Given the description of an element on the screen output the (x, y) to click on. 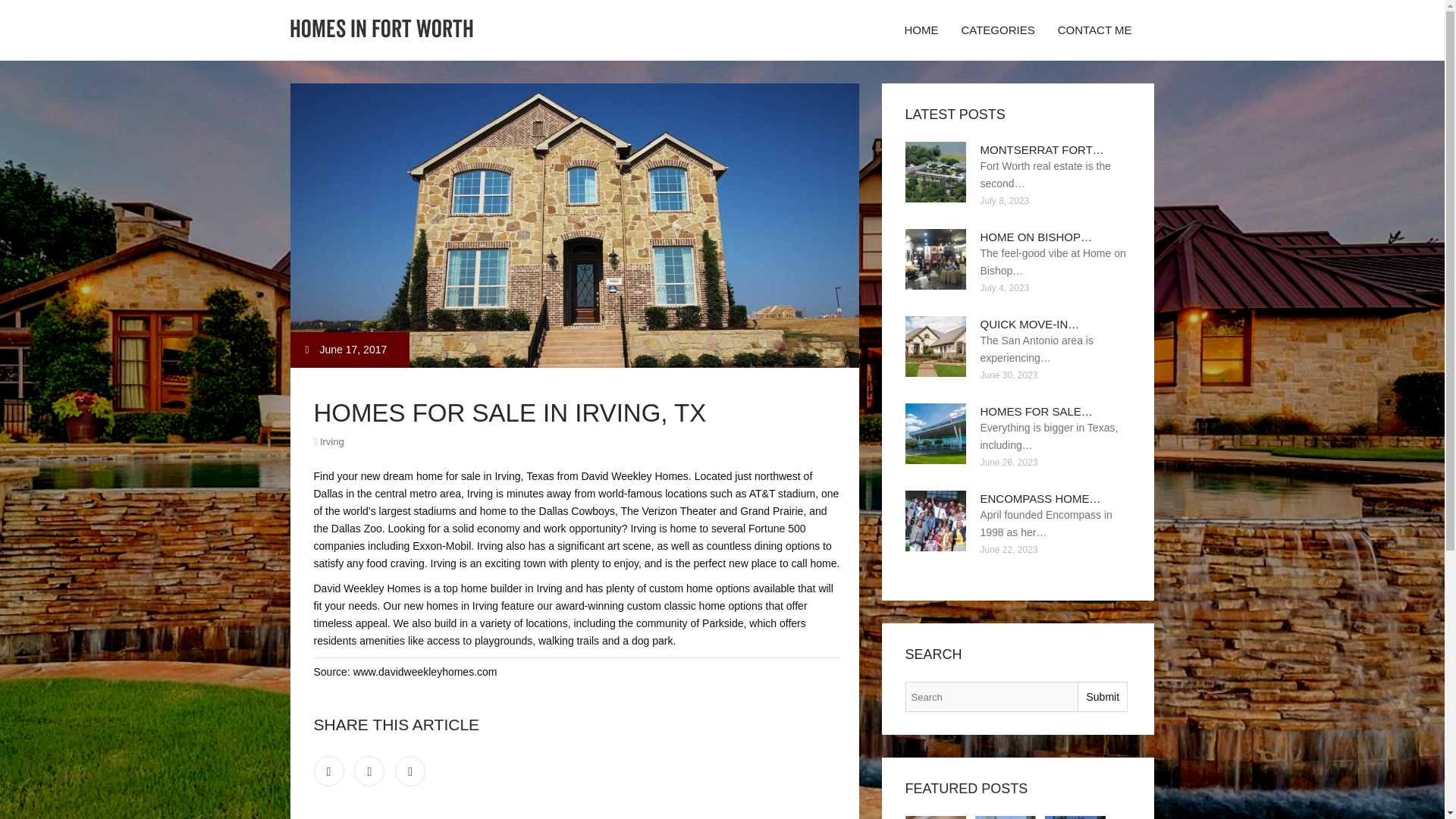
Homes for sale Near Fort Worth Texas (1075, 817)
Apartments Homes in Irving TX (935, 817)
CATEGORIES (997, 30)
Submit (1101, 696)
Homes for sale in Fort Worth Texas (1005, 817)
HOME (920, 30)
CONTACT ME (1094, 30)
Irving (331, 441)
